Given the description of an element on the screen output the (x, y) to click on. 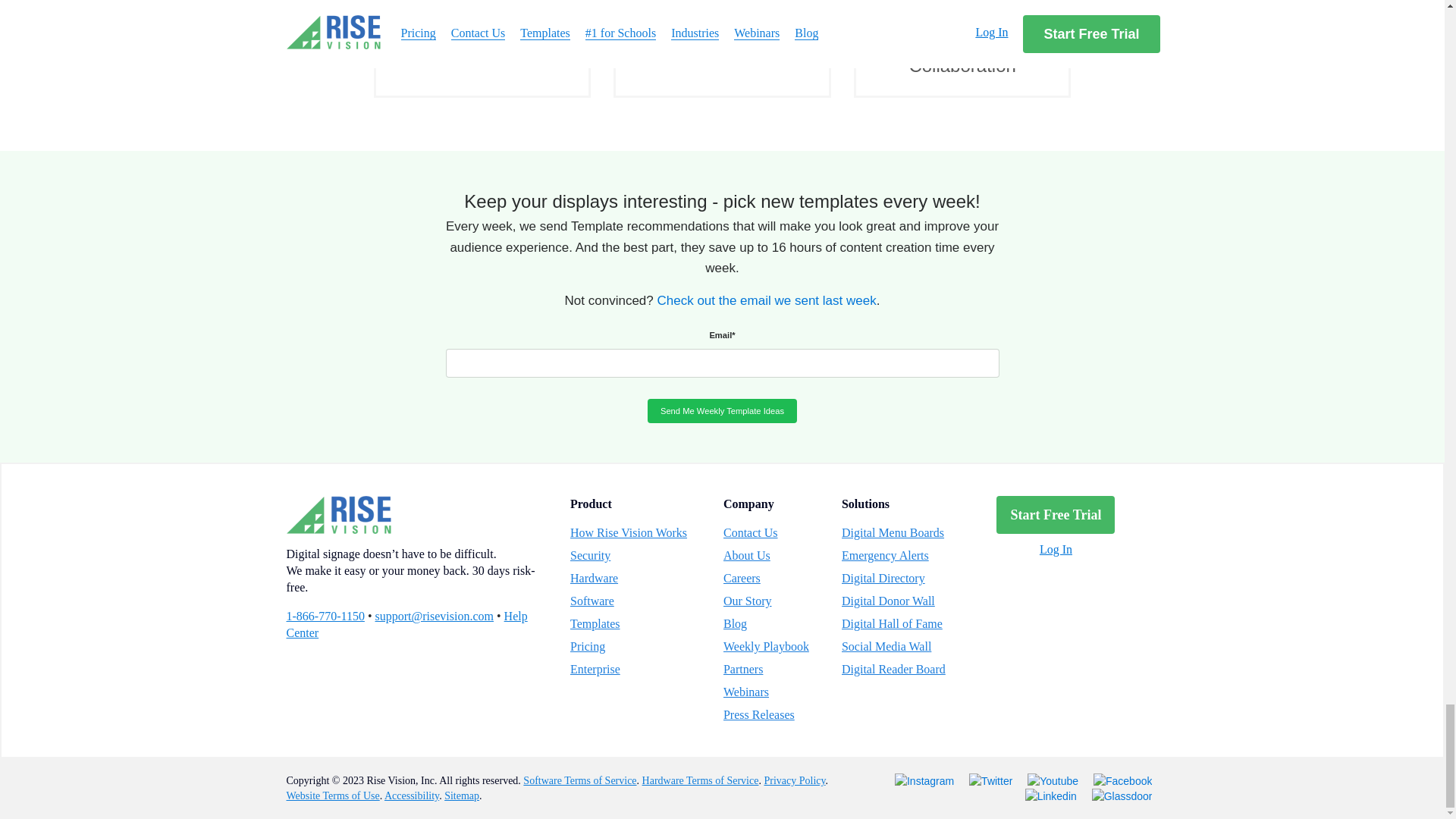
Start Free Trial (1055, 514)
Send Me Weekly Template Ideas (721, 410)
rise-logo-1 (338, 514)
